Given the description of an element on the screen output the (x, y) to click on. 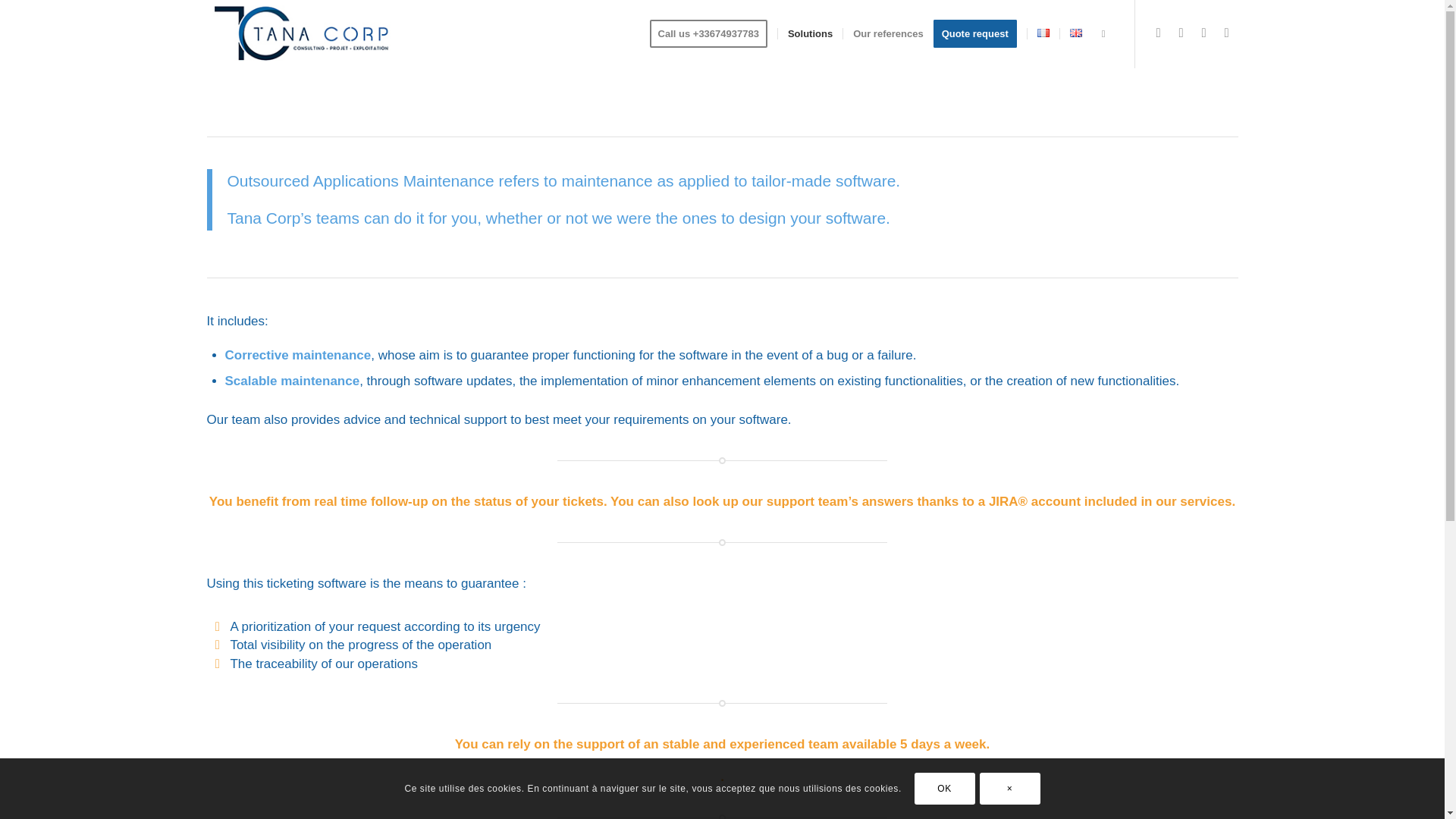
Solutions (810, 33)
OK (944, 788)
Quote request (979, 33)
Mail (1158, 33)
Our references (888, 33)
Linkedin (1203, 33)
Facebook (1225, 33)
Twitter (1180, 33)
